Given the description of an element on the screen output the (x, y) to click on. 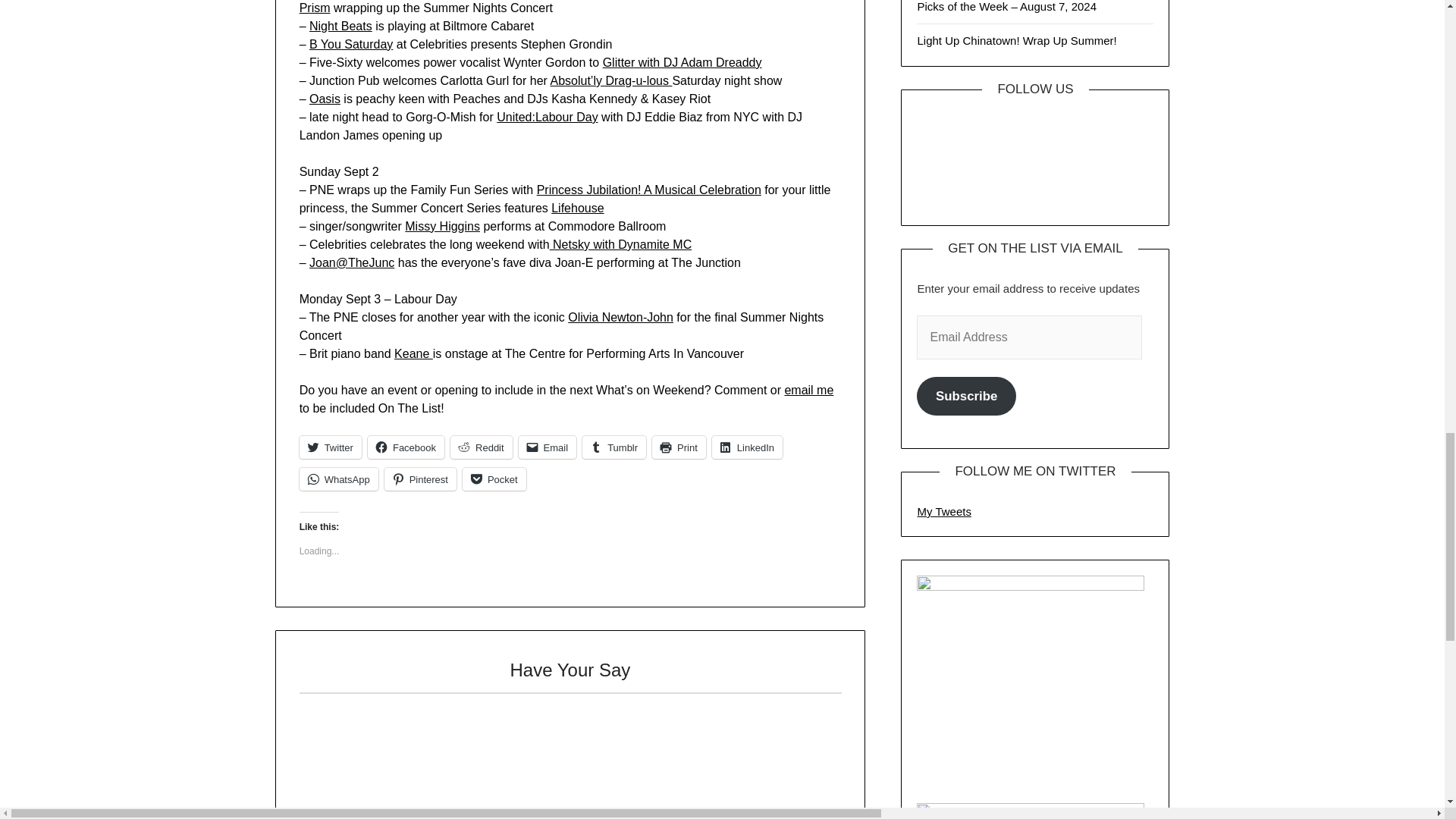
Click to share on Twitter (330, 446)
Click to share on Tumblr (614, 446)
Comment Form (570, 755)
Click to share on Pinterest (420, 478)
Click to share on Facebook (406, 446)
Click to email a link to a friend (547, 446)
Click to share on Pocket (494, 478)
Click to share on Reddit (480, 446)
Click to share on LinkedIn (747, 446)
Click to share on WhatsApp (338, 478)
